Given the description of an element on the screen output the (x, y) to click on. 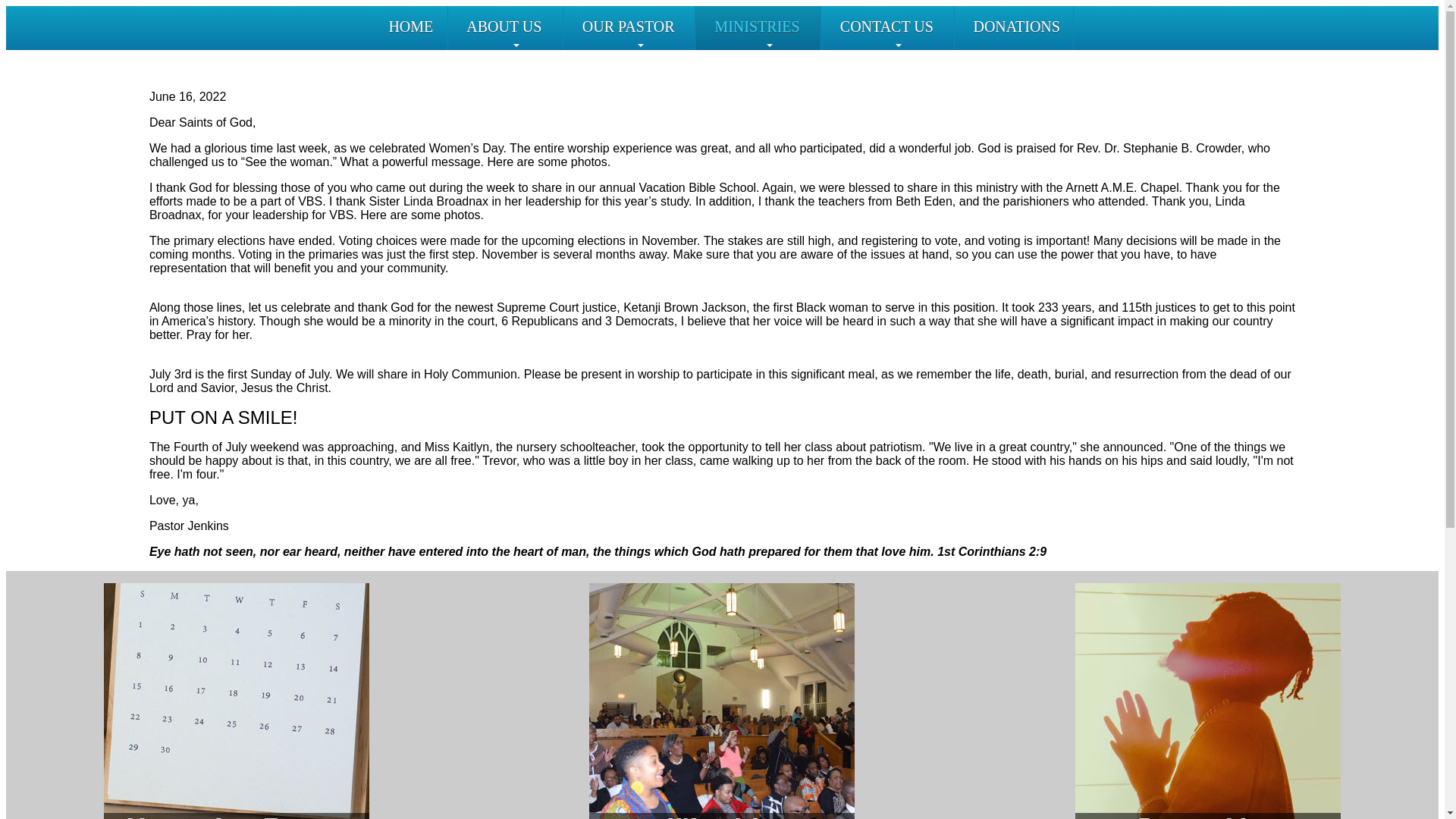
CONTACT US (898, 27)
MINISTRIES (768, 27)
DONATIONS (1020, 27)
HOME (415, 27)
ABOUT US (516, 27)
OUR PASTOR (640, 27)
